Given the description of an element on the screen output the (x, y) to click on. 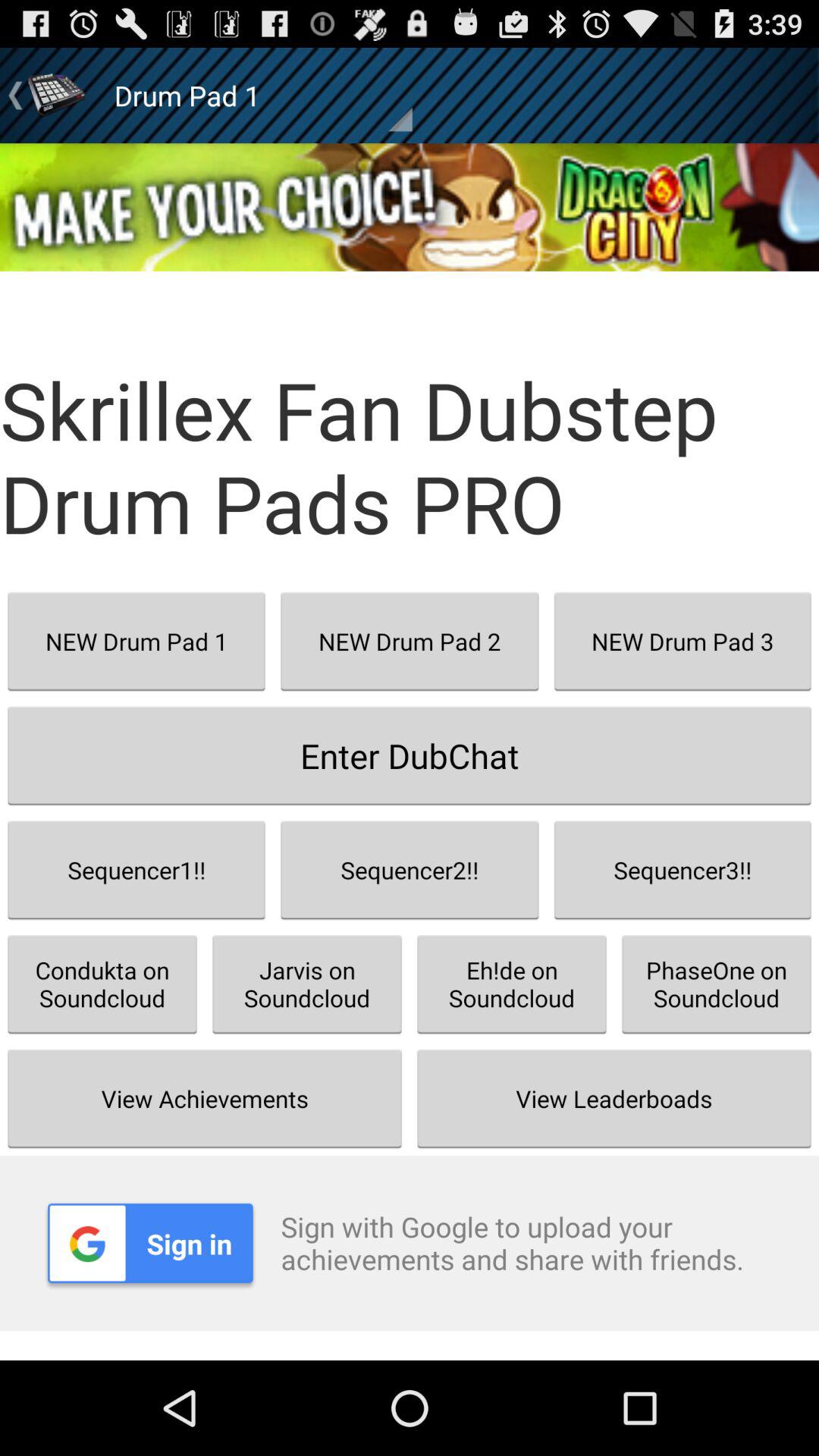
click the button to the left of the phaseone on soundcloud item (511, 984)
